Given the description of an element on the screen output the (x, y) to click on. 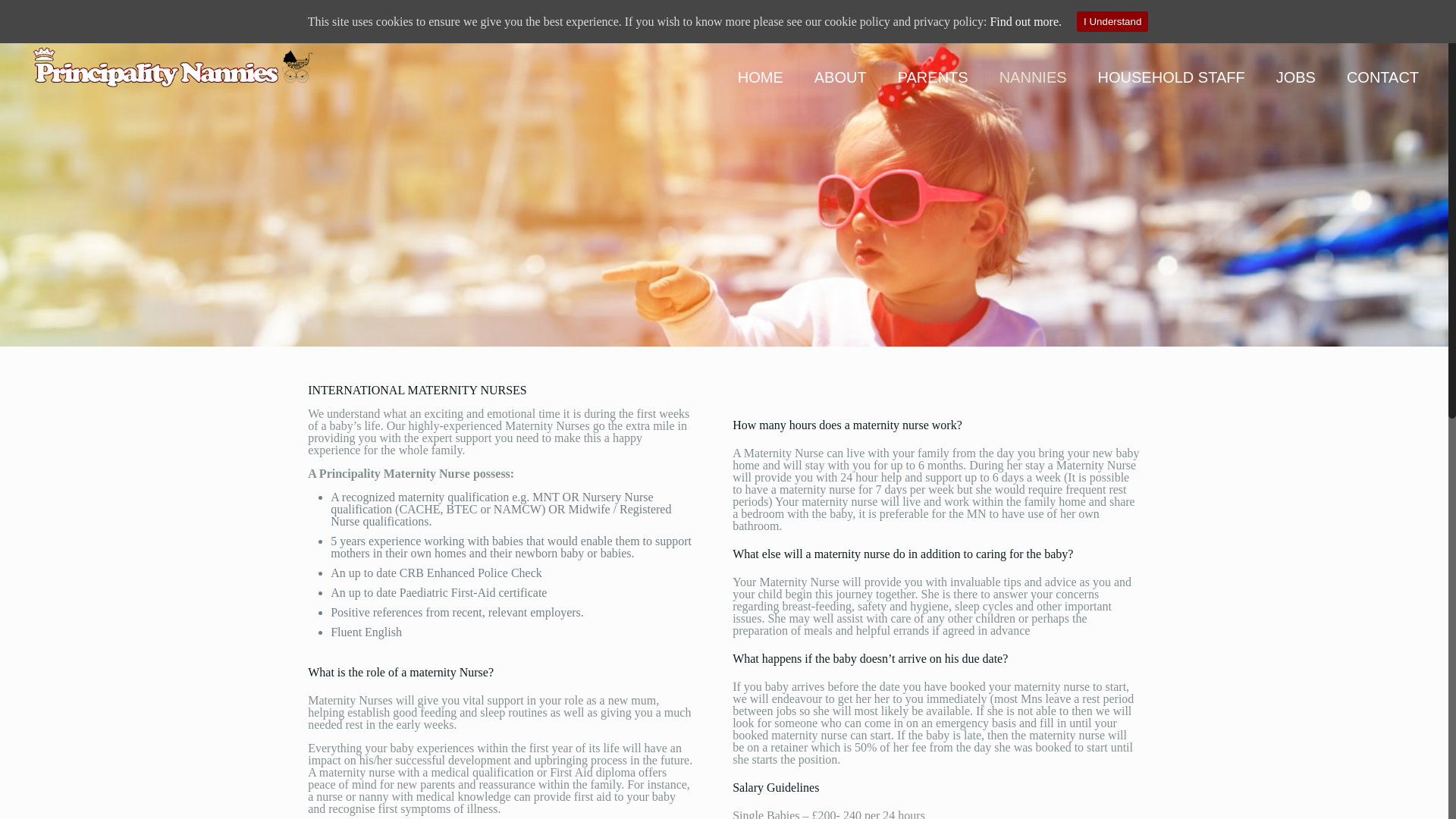
PARENTS (933, 77)
JOBS (1296, 77)
I Understand (1112, 21)
HOUSEHOLD STAFF (1171, 77)
Principality Nannies (171, 65)
CONTACT (1383, 77)
ABOUT (840, 77)
NANNIES (1033, 77)
Find out more. (1025, 21)
HOME (760, 77)
